Given the description of an element on the screen output the (x, y) to click on. 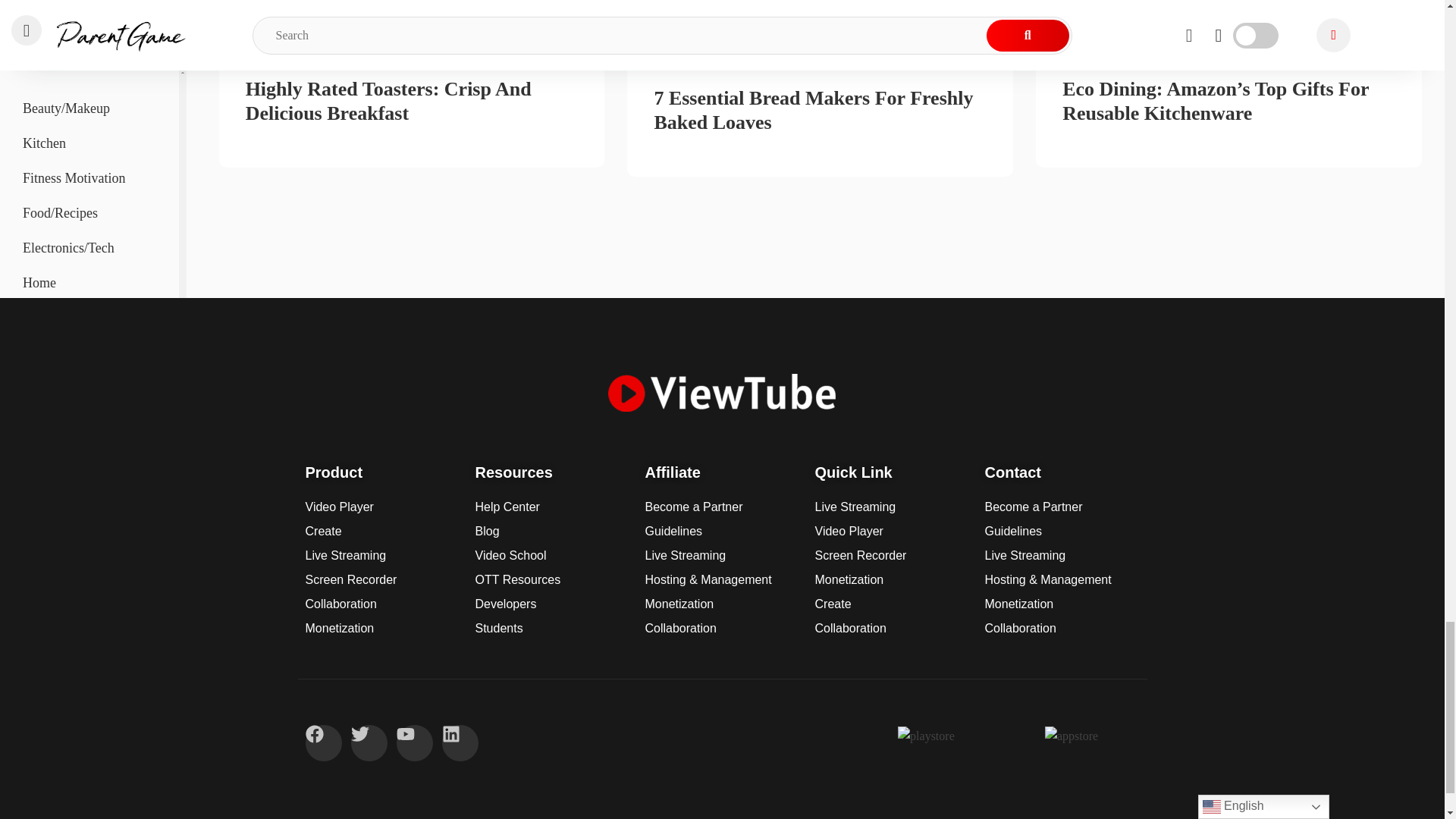
playstore (926, 736)
appstore (1071, 736)
